Given the description of an element on the screen output the (x, y) to click on. 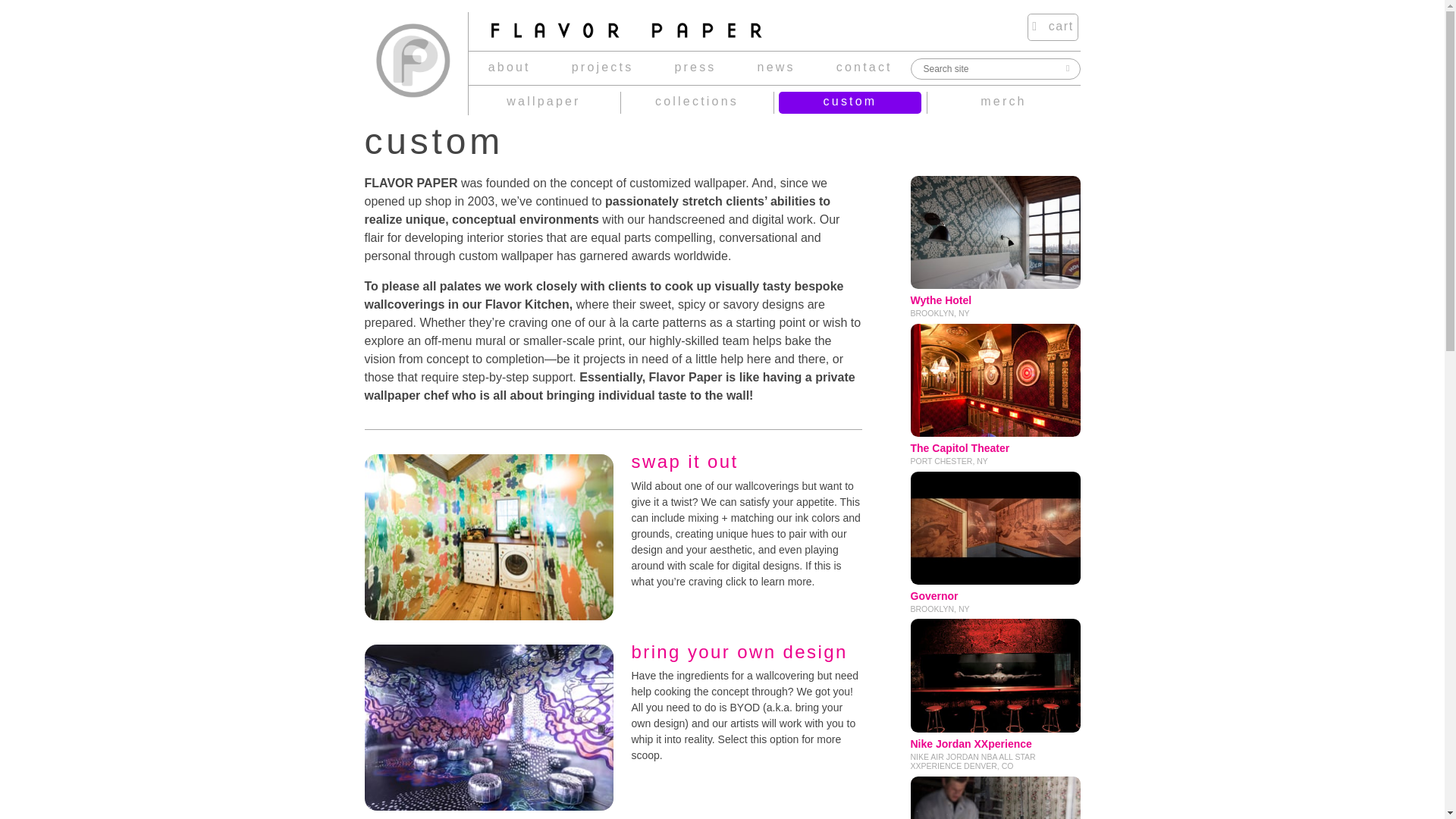
View the items in your shopping cart (1052, 26)
custom (849, 102)
about (508, 68)
projects (602, 68)
Nike Jordan XXperience (995, 694)
submit (1066, 67)
cart (995, 542)
The Capitol Theater (1052, 26)
